Given the description of an element on the screen output the (x, y) to click on. 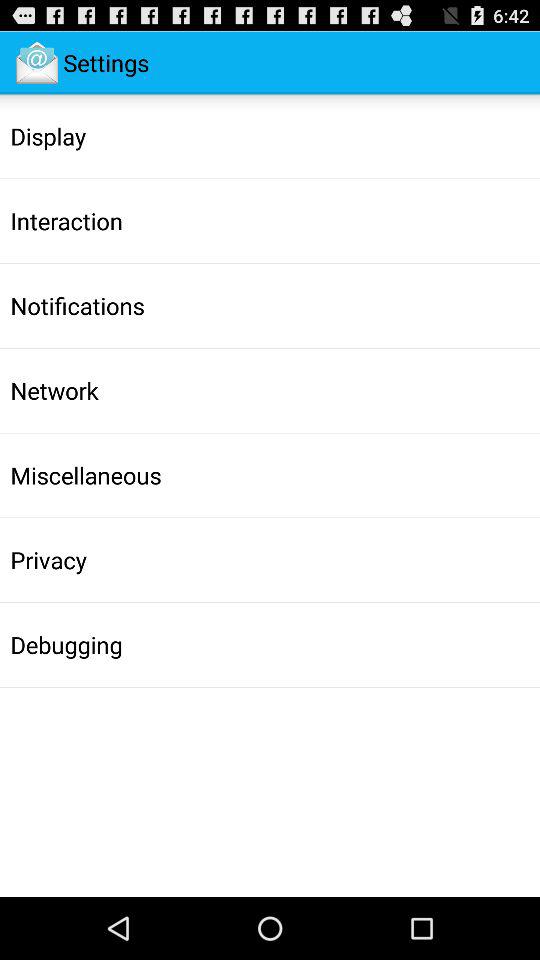
tap the item above privacy icon (85, 475)
